Given the description of an element on the screen output the (x, y) to click on. 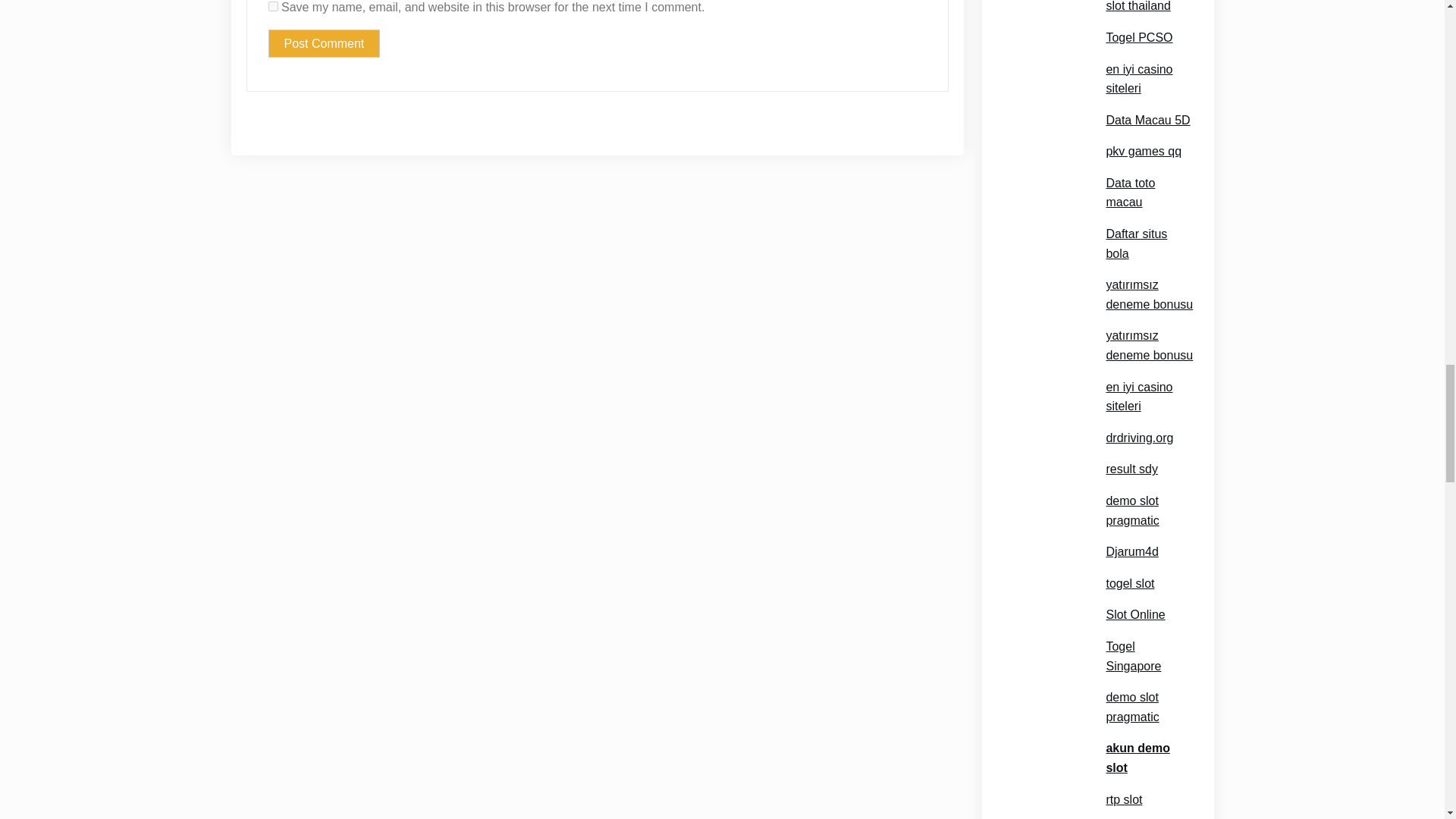
Post Comment (323, 43)
yes (272, 6)
Post Comment (323, 43)
